Given the description of an element on the screen output the (x, y) to click on. 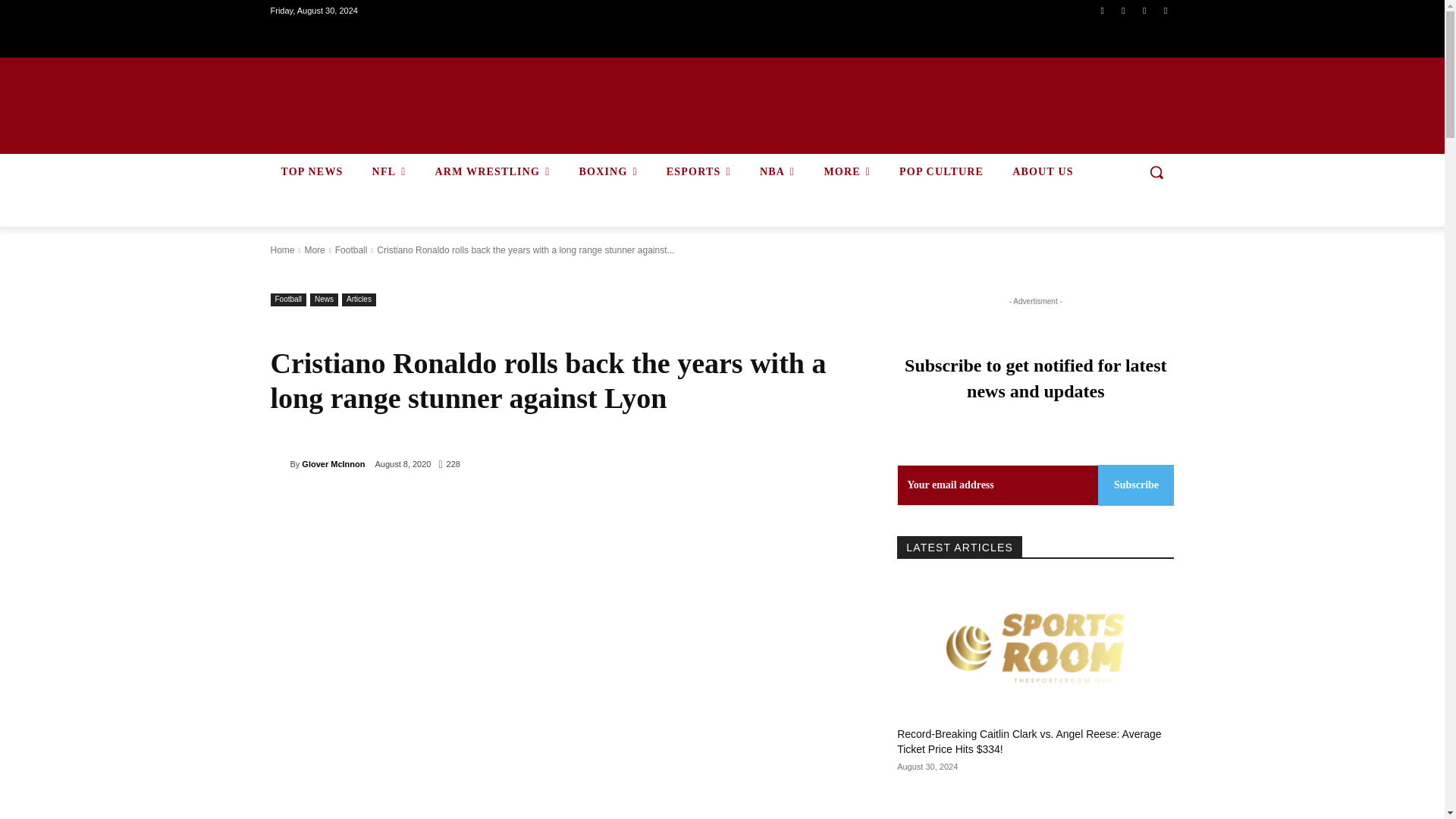
Instagram (1123, 9)
Facebook (1101, 9)
Youtube (1165, 9)
Twitter (1144, 9)
